Given the description of an element on the screen output the (x, y) to click on. 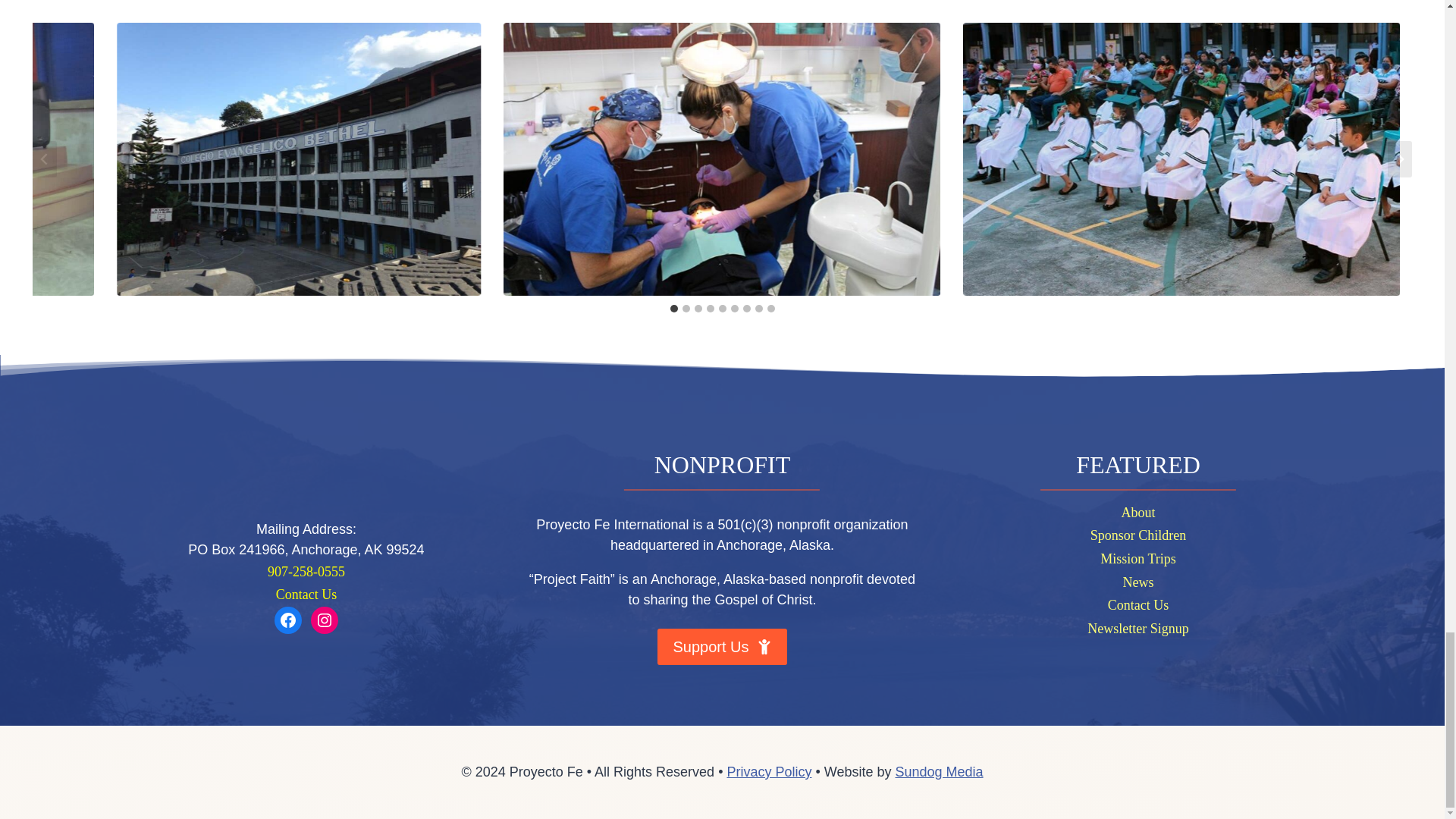
Contact Us (306, 594)
907-258-0555 (306, 571)
